Given the description of an element on the screen output the (x, y) to click on. 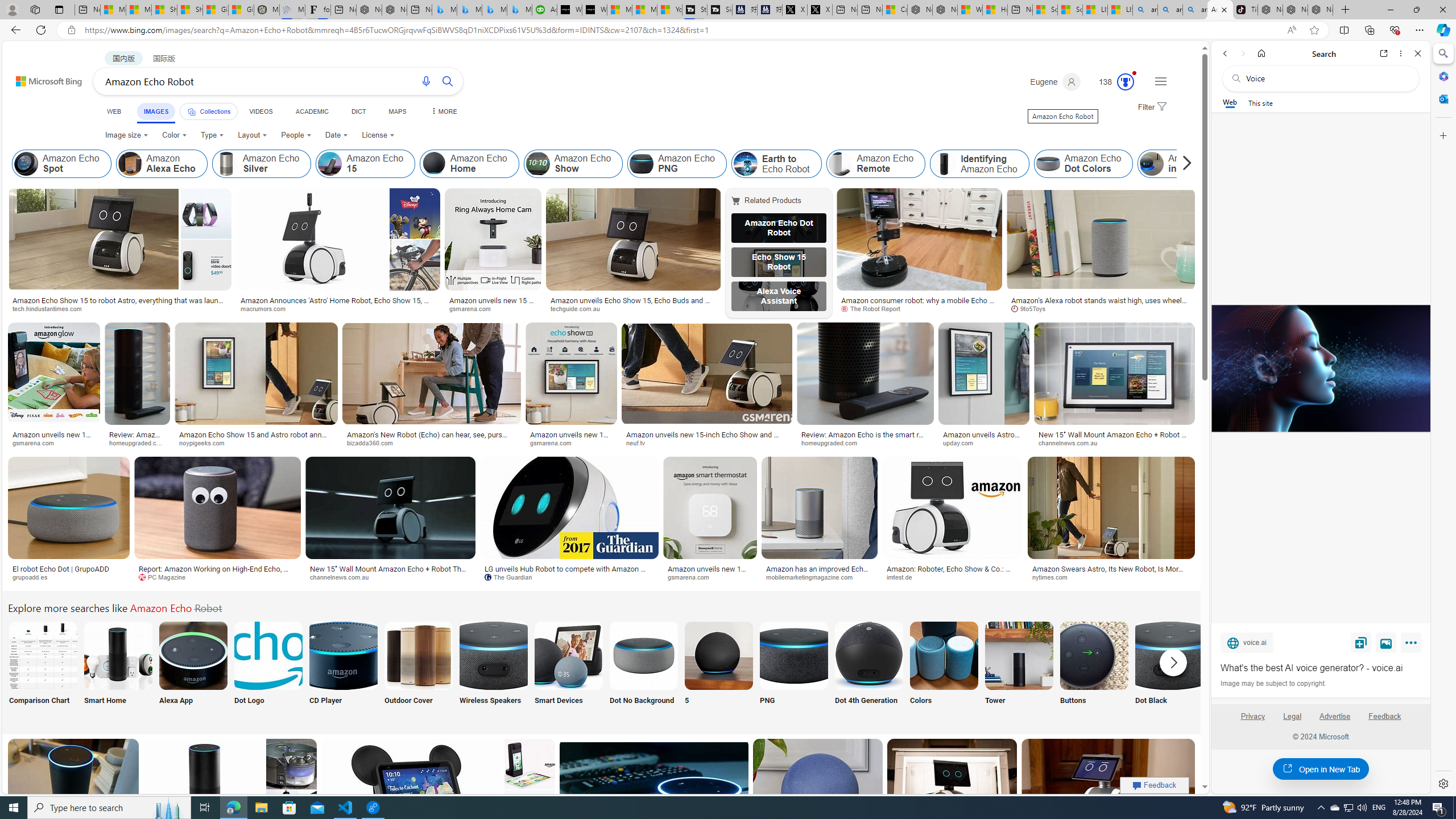
homeupgraded.com (832, 442)
tech.hindustantimes.com (120, 308)
Open in New Tab (1321, 768)
neuf.tv (706, 442)
DICT (357, 111)
Amazon Echo Silver (226, 163)
bizadda360.com (373, 442)
People (295, 135)
